Given the description of an element on the screen output the (x, y) to click on. 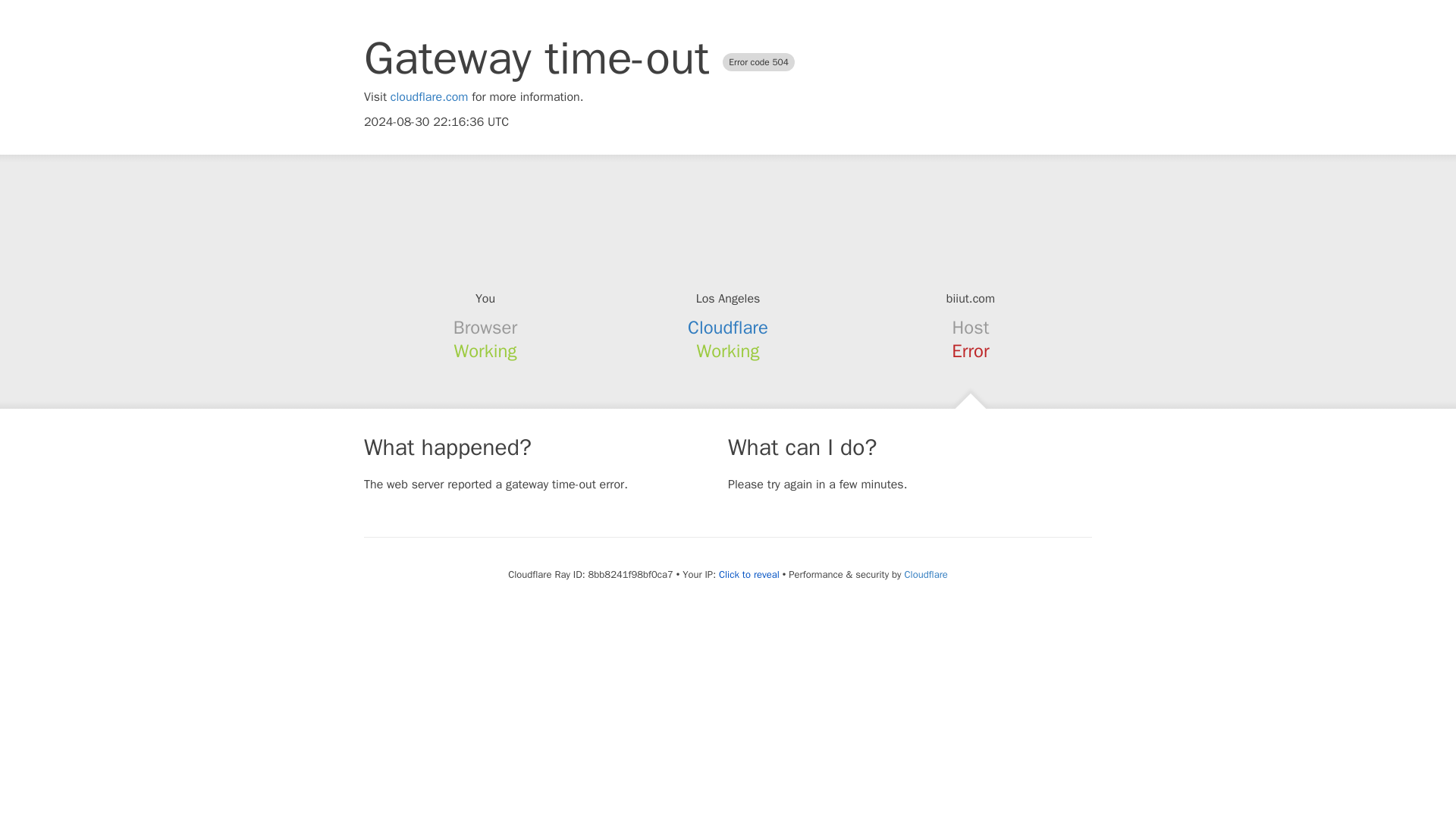
Cloudflare (727, 327)
cloudflare.com (429, 96)
Cloudflare (925, 574)
Click to reveal (748, 574)
